Given the description of an element on the screen output the (x, y) to click on. 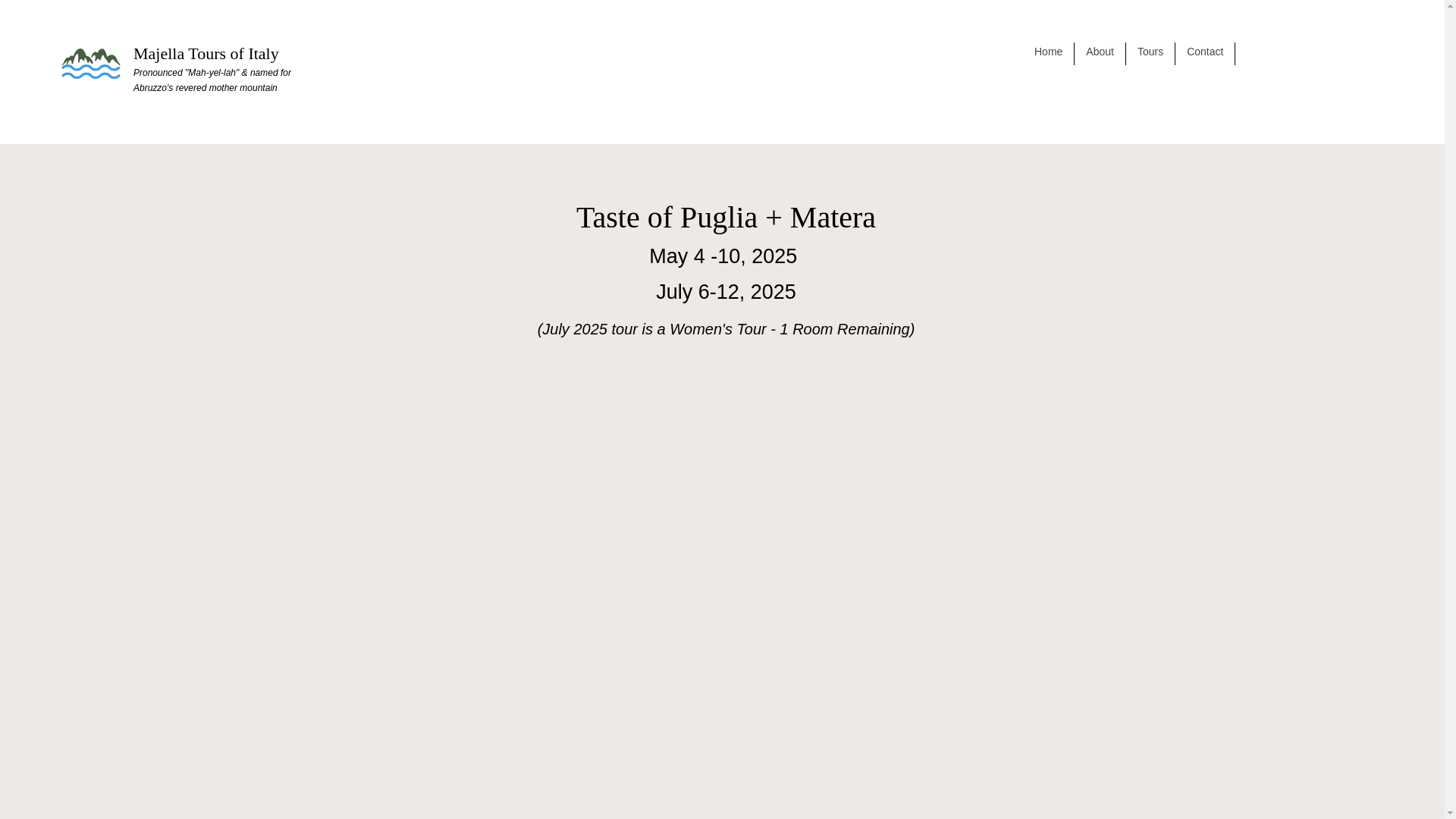
Home (1048, 53)
Tours (1149, 53)
Contact (1204, 53)
About (1099, 53)
Majella Tours of Italy (206, 53)
